Given the description of an element on the screen output the (x, y) to click on. 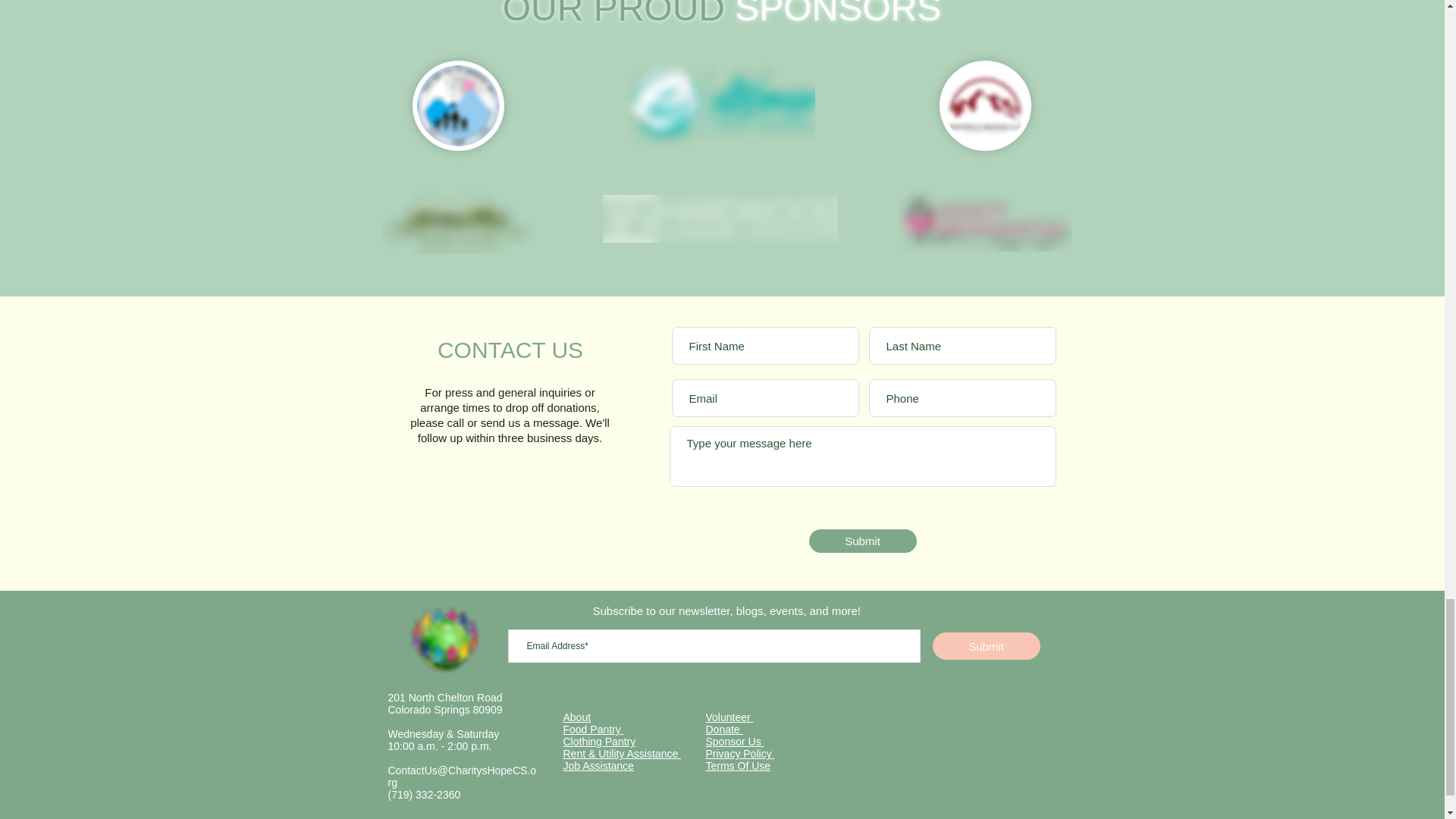
Submit (987, 646)
Submit (861, 540)
Job Assistance (597, 766)
About (576, 717)
Food Pantry  (592, 729)
Clothing Pantry (598, 741)
